Given the description of an element on the screen output the (x, y) to click on. 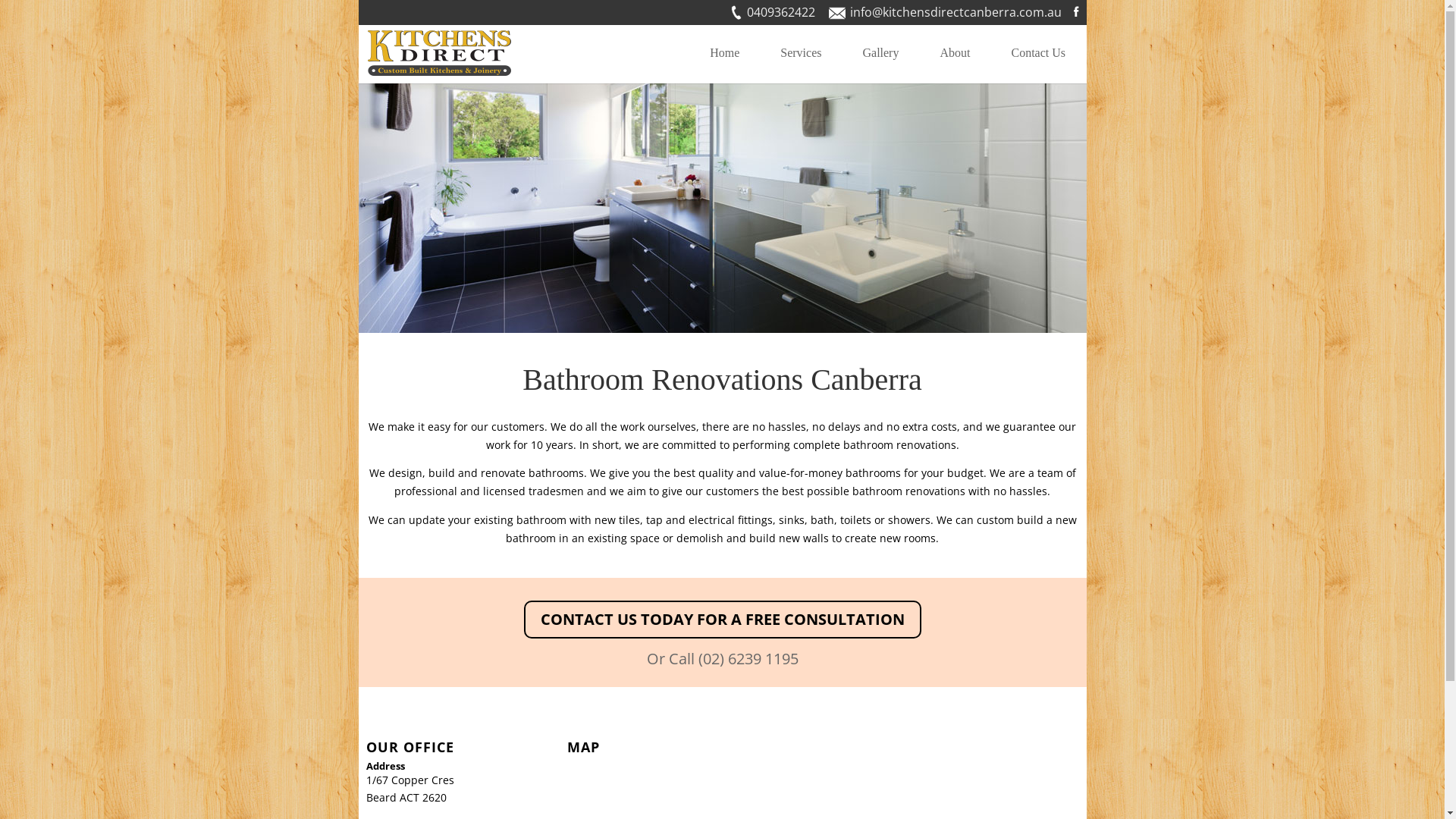
Contact Us Element type: text (1037, 63)
Services Element type: text (800, 63)
Home Element type: text (724, 63)
About Element type: text (954, 63)
Gallery Element type: text (880, 63)
CONTACT US TODAY FOR A FREE CONSULTATION Element type: text (721, 619)
